Given the description of an element on the screen output the (x, y) to click on. 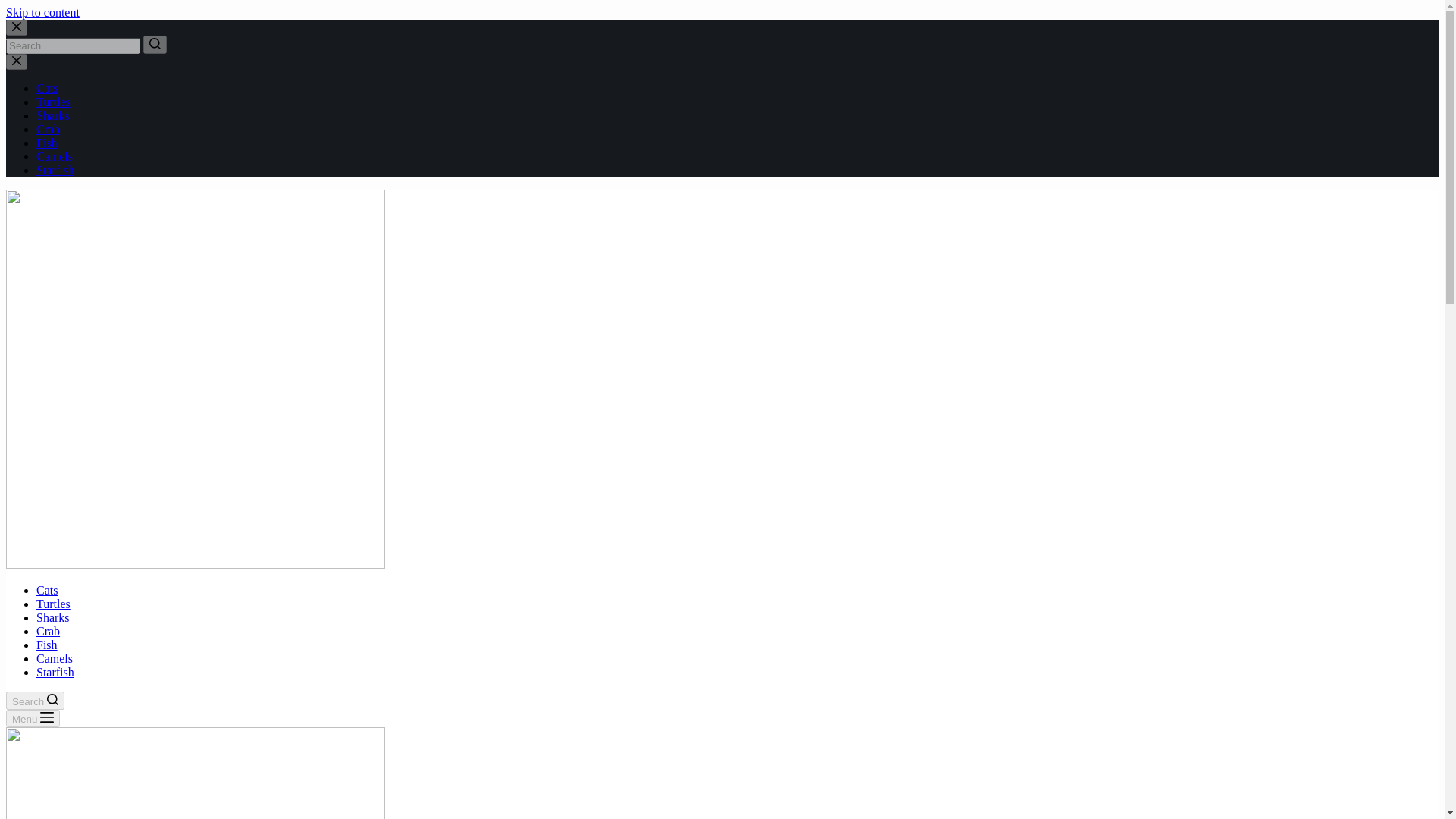
Crab (47, 631)
Sharks (52, 115)
Starfish (55, 169)
Skip to content (42, 11)
Fish (47, 142)
Search (34, 700)
Fish (47, 644)
Search Input (72, 45)
Camels (54, 658)
Starfish (55, 671)
Camels (54, 155)
Cats (47, 590)
Turtles (52, 603)
Cats (47, 88)
Turtles (52, 101)
